Given the description of an element on the screen output the (x, y) to click on. 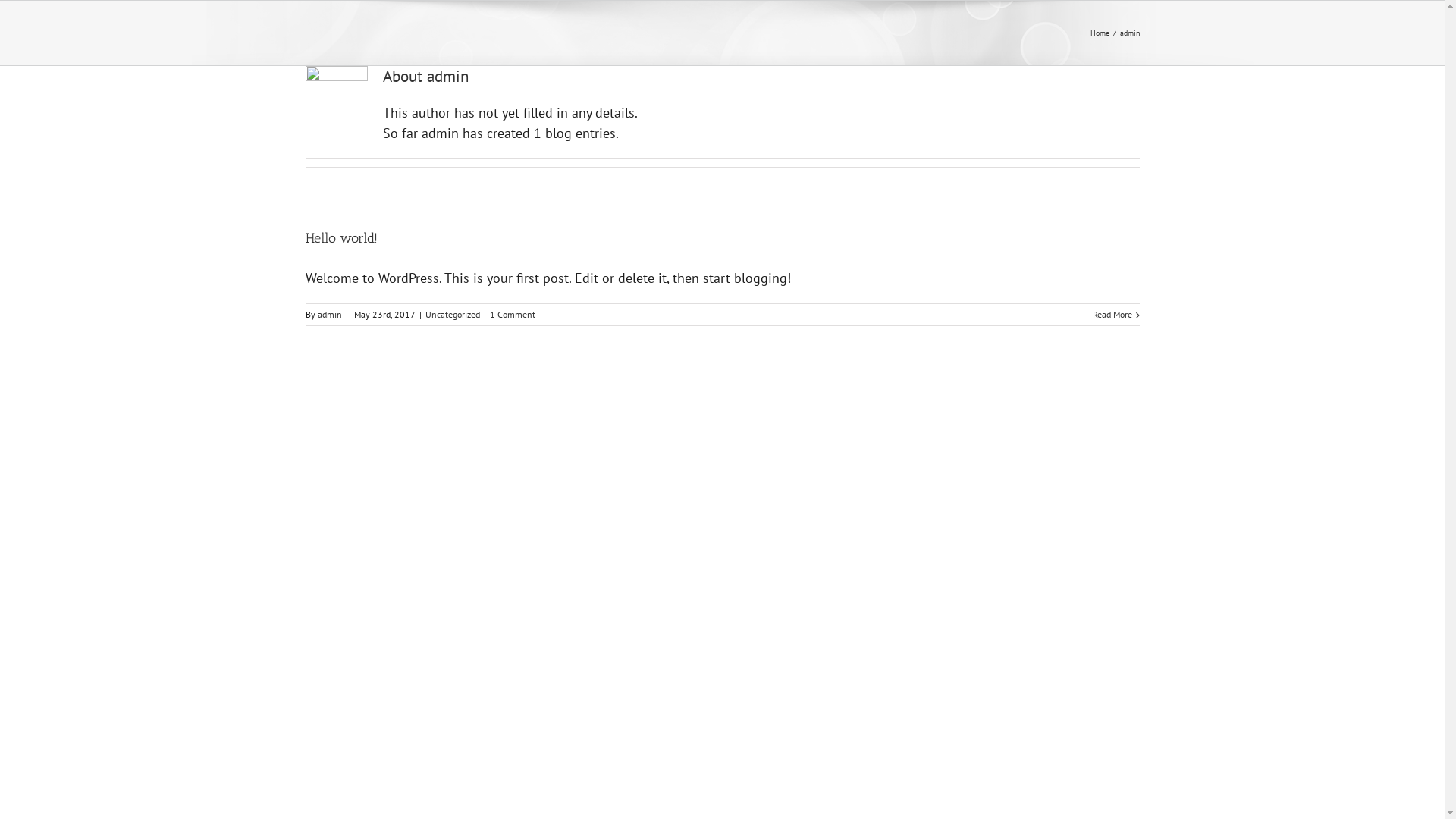
Home Element type: text (1099, 32)
1 Comment Element type: text (512, 314)
Uncategorized Element type: text (451, 314)
Hello world! Element type: text (340, 237)
admin Element type: text (328, 314)
Read More Element type: text (1111, 314)
